Given the description of an element on the screen output the (x, y) to click on. 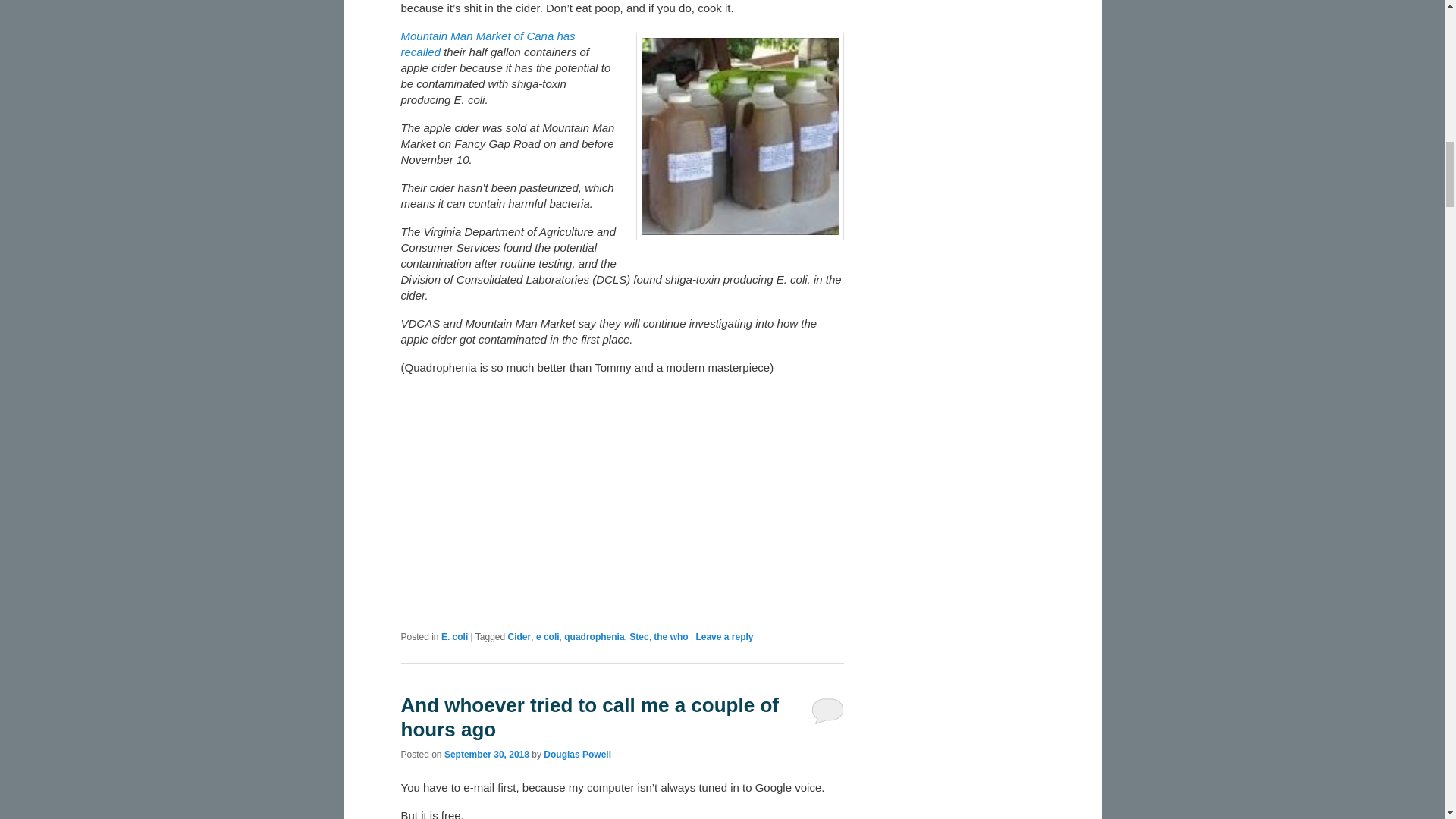
3:49 am (486, 754)
View all posts by Douglas Powell (577, 754)
